Given the description of an element on the screen output the (x, y) to click on. 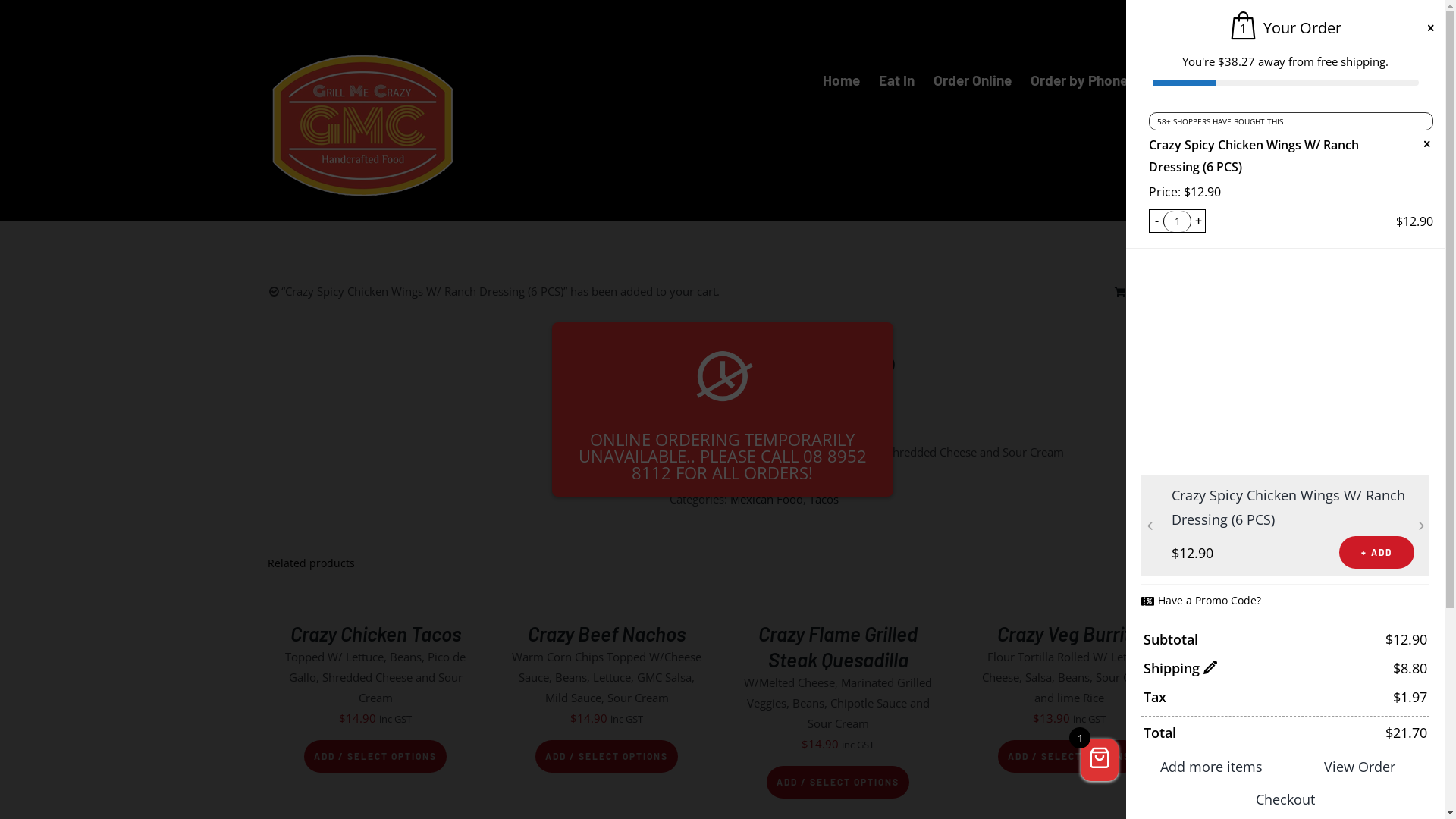
Crazy Veg Burrito Element type: text (1069, 633)
View Order Element type: text (1359, 766)
ADD / SELECT OPTIONS Element type: text (1068, 756)
Home Element type: text (840, 79)
ADD / SELECT OPTIONS Element type: text (375, 756)
ADD / SELECT OPTIONS Element type: text (606, 756)
Crazy Spicy Chicken Wings W/ Ranch Dressing (6 PCS) Element type: text (1288, 507)
Crazy Spicy Chicken Wings W/ Ranch Dressing (6 PCS) Element type: text (1253, 155)
Mexican Food Element type: text (765, 498)
Order Online Element type: text (971, 79)
ADD / SELECT OPTIONS Element type: text (837, 781)
Checkout Element type: text (1285, 799)
+ADD Element type: text (1376, 552)
Add more items Element type: text (1211, 766)
Crazy Chicken Tacos Element type: text (374, 633)
Crazy Beef Nachos Element type: text (606, 633)
View cart Element type: text (1145, 291)
Order by Phone Element type: text (1077, 79)
Tacos Element type: text (822, 498)
Crazy Flame Grilled Steak Quesadilla Element type: text (837, 646)
Eat In Element type: text (895, 79)
